Given the description of an element on the screen output the (x, y) to click on. 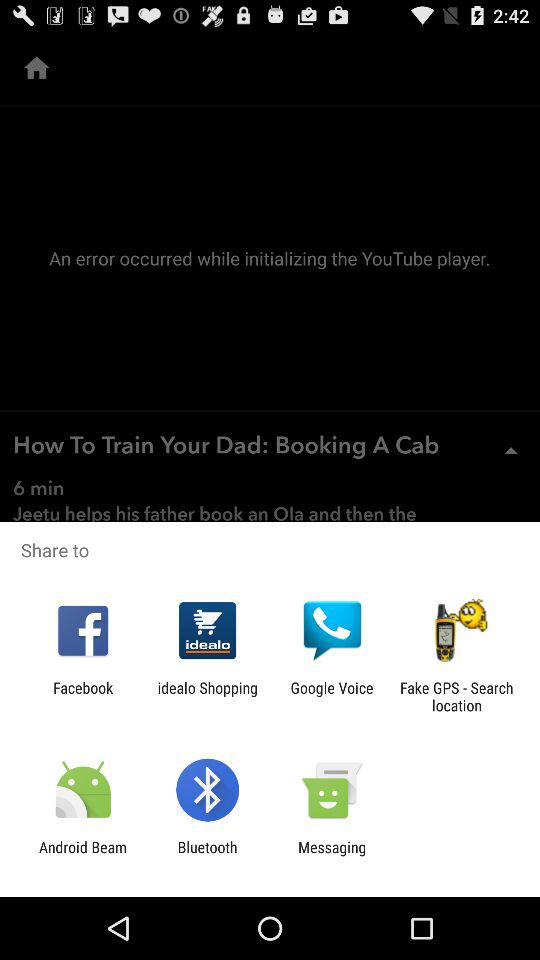
turn off the icon at the bottom right corner (456, 696)
